Given the description of an element on the screen output the (x, y) to click on. 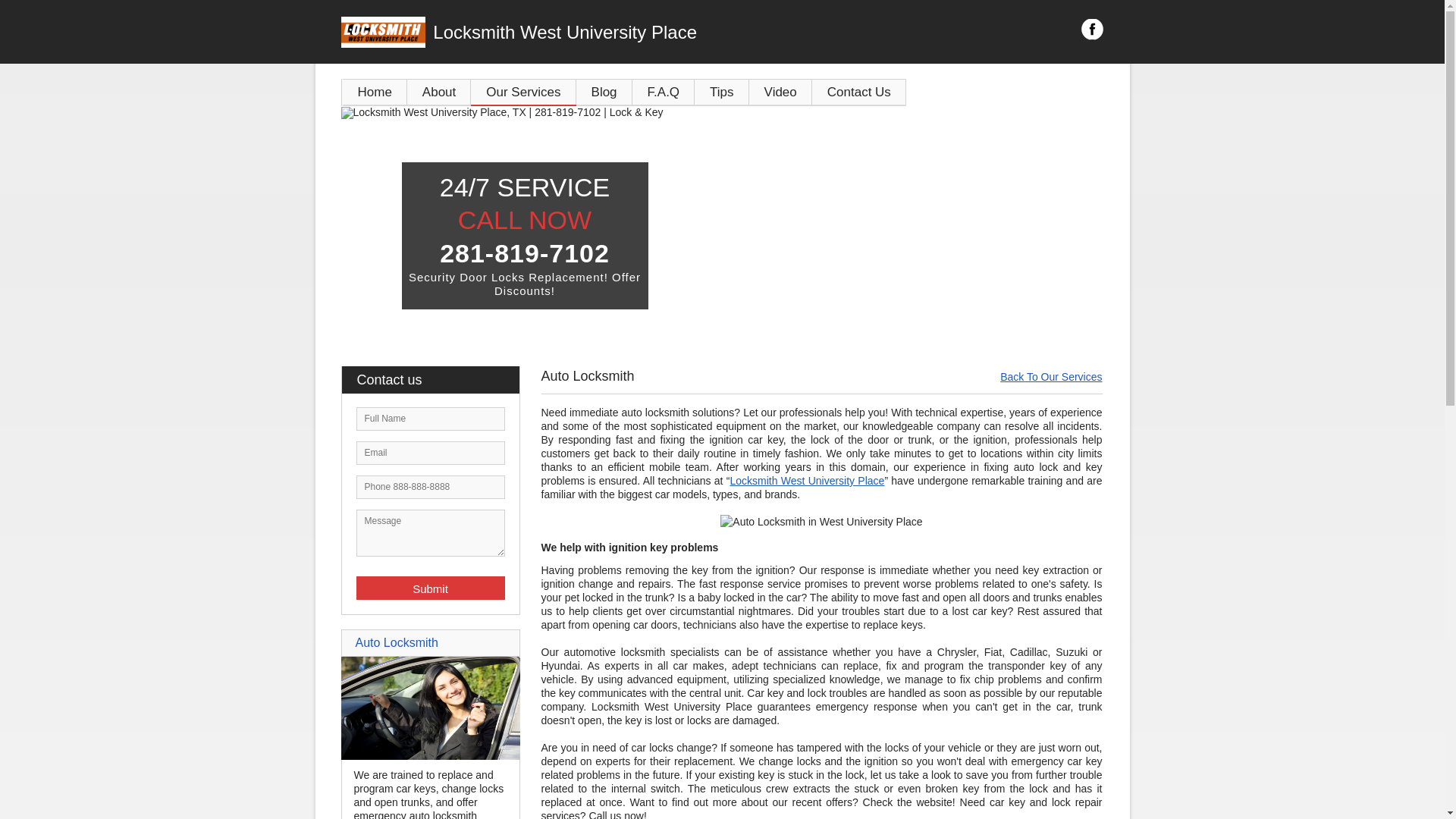
Tips Element type: text (721, 91)
About Element type: text (438, 91)
Home Element type: text (374, 91)
Auto Locksmith Element type: text (395, 642)
Video Element type: text (780, 91)
Locksmith West University Place Element type: text (606, 32)
Contact Us Element type: text (859, 91)
Auto Locksmith in West University Place Element type: hover (821, 521)
F.A.Q Element type: text (663, 91)
Facebook Element type: text (1092, 29)
Submit Element type: text (430, 587)
Contact us Element type: text (437, 379)
Auto Locksmith Element type: hover (430, 755)
Our Services Element type: text (522, 91)
Locksmith West University Place Element type: text (806, 480)
Back To Our Services Element type: text (1050, 376)
Blog Element type: text (604, 91)
